Given the description of an element on the screen output the (x, y) to click on. 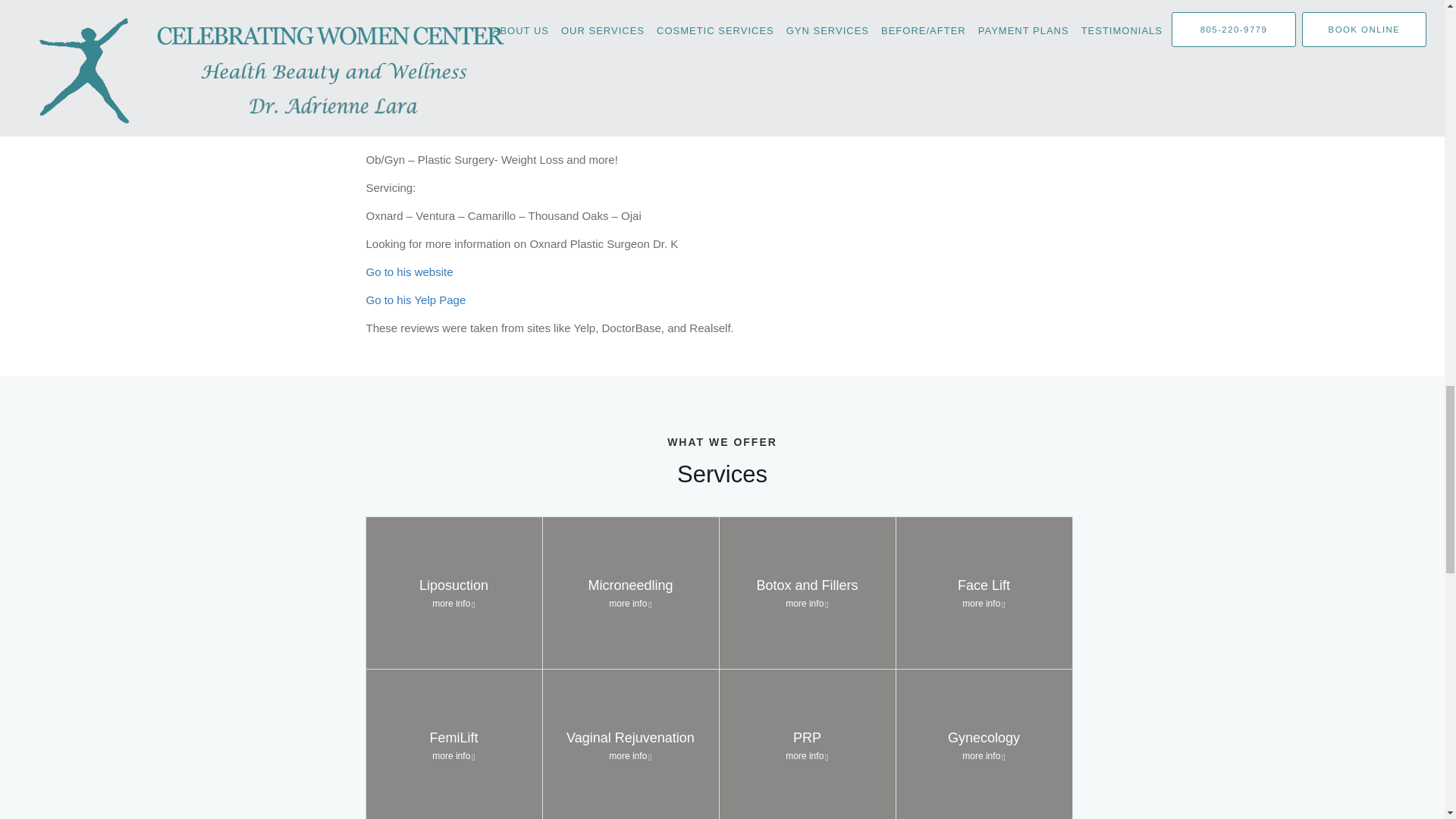
Dr K Plastic Surgeon (408, 271)
Yelp Dr. K Plastic Surgeon (415, 299)
